Given the description of an element on the screen output the (x, y) to click on. 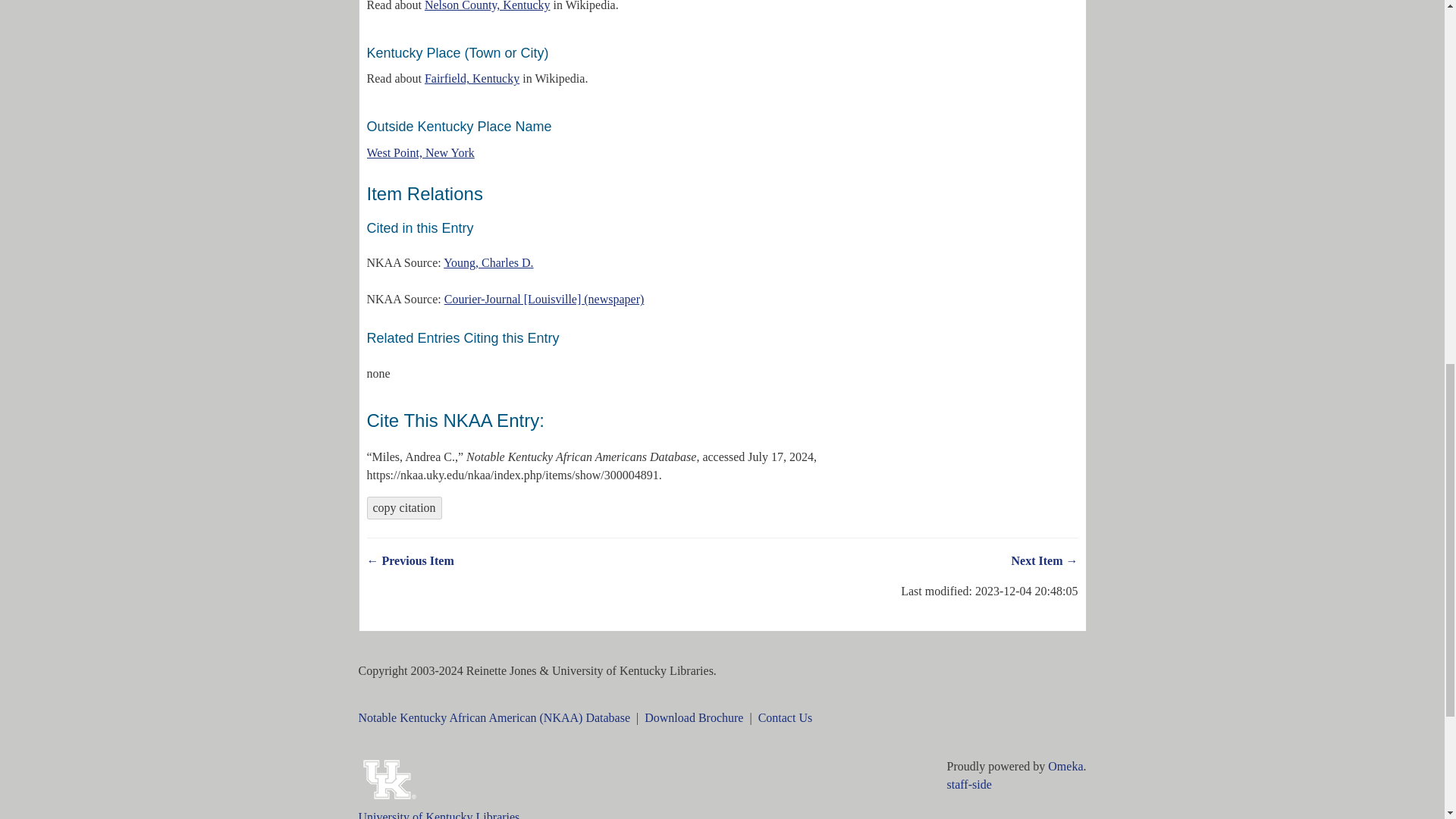
Young, Charles D. (488, 262)
Omeka (1065, 766)
copy citation (404, 507)
Contact Us (785, 717)
Download Brochure (693, 717)
West Point, New York (420, 152)
Fairfield, Kentucky (472, 78)
staff-side (969, 784)
University of Kentucky Libraries (438, 814)
Nelson County, Kentucky (487, 5)
